Given the description of an element on the screen output the (x, y) to click on. 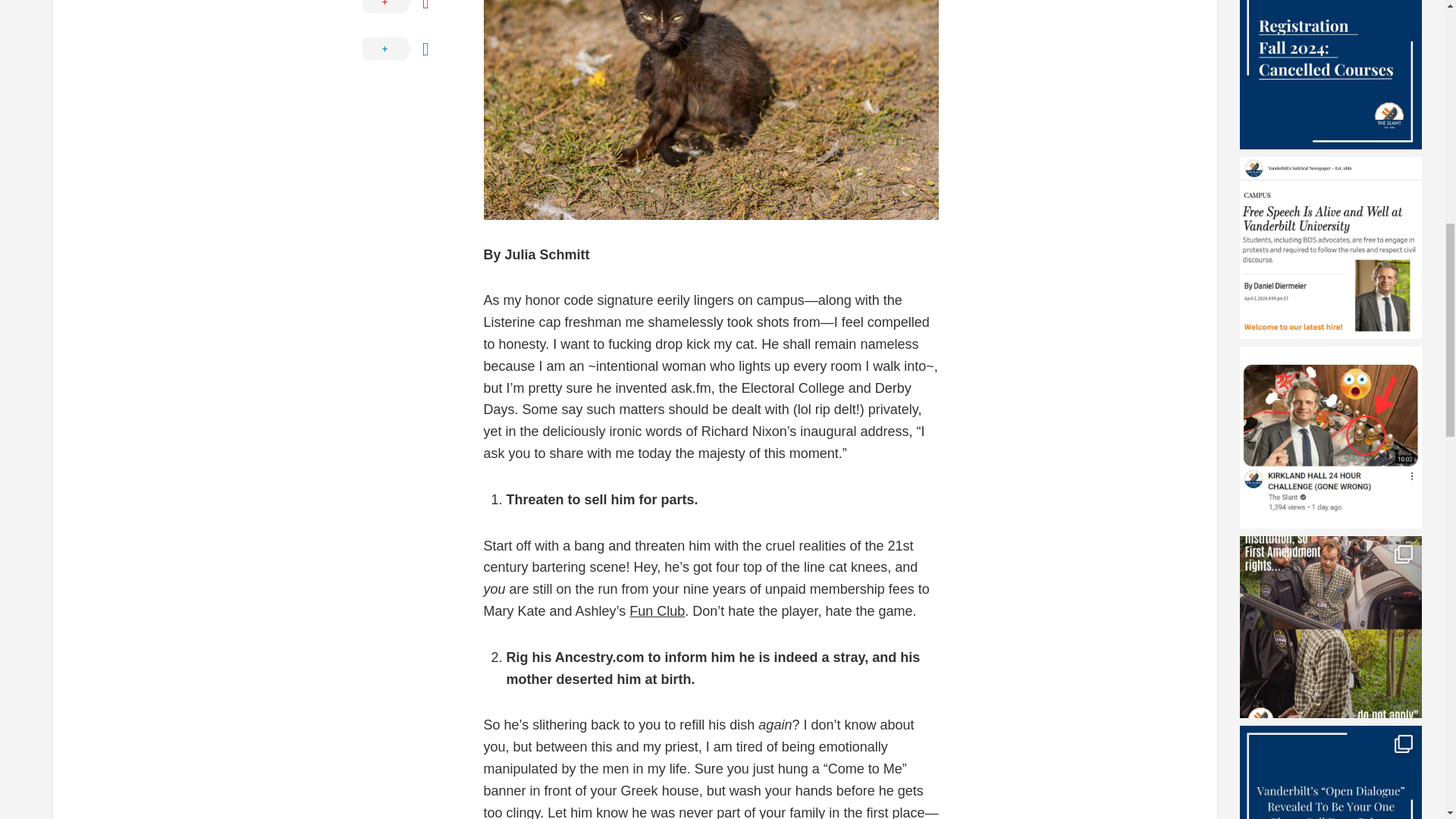
Share on Pinterest (407, 12)
Fun Club (656, 611)
Share on LinkedIn (407, 48)
